Given the description of an element on the screen output the (x, y) to click on. 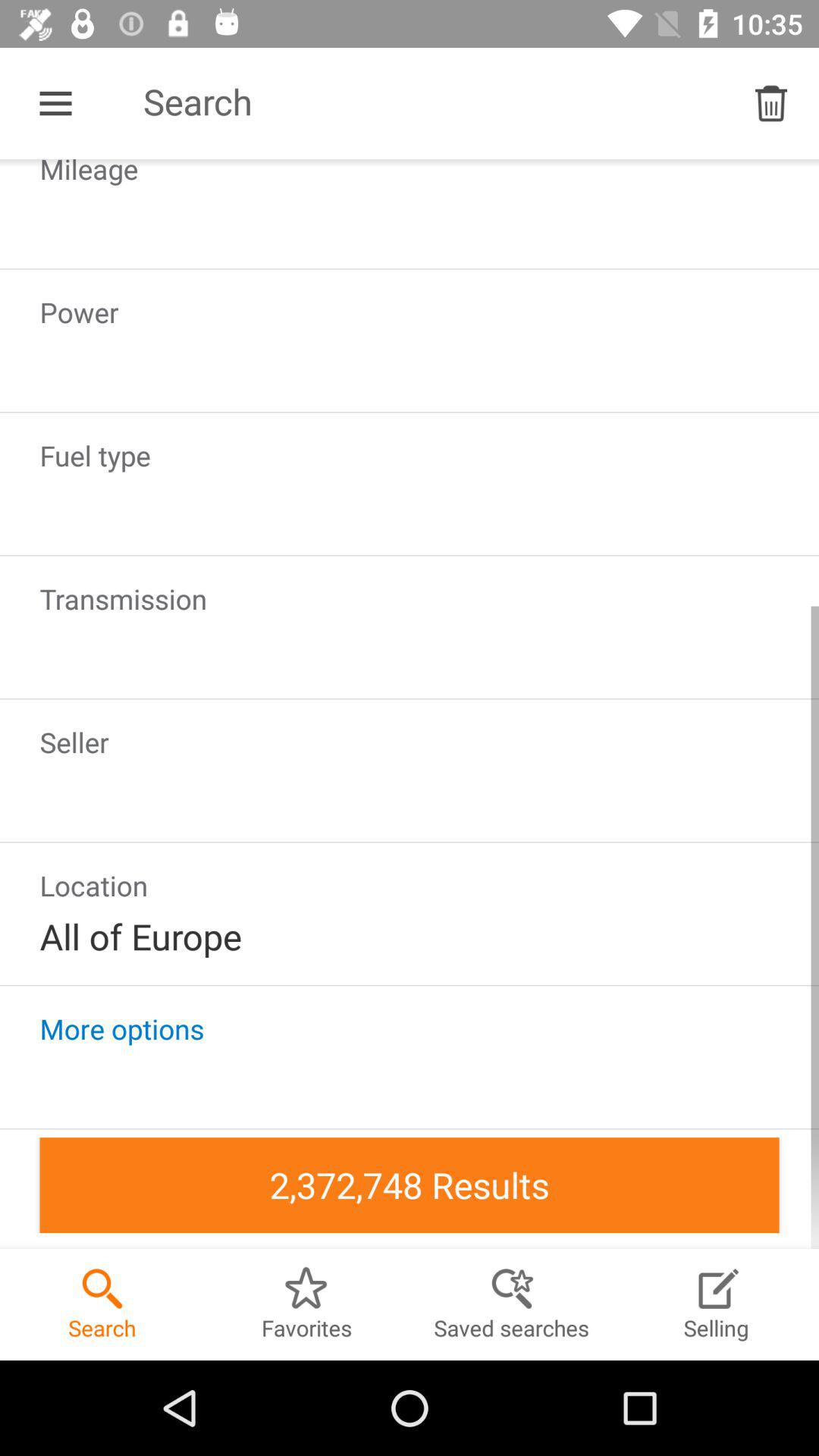
select the icon above the mileage item (771, 103)
